Given the description of an element on the screen output the (x, y) to click on. 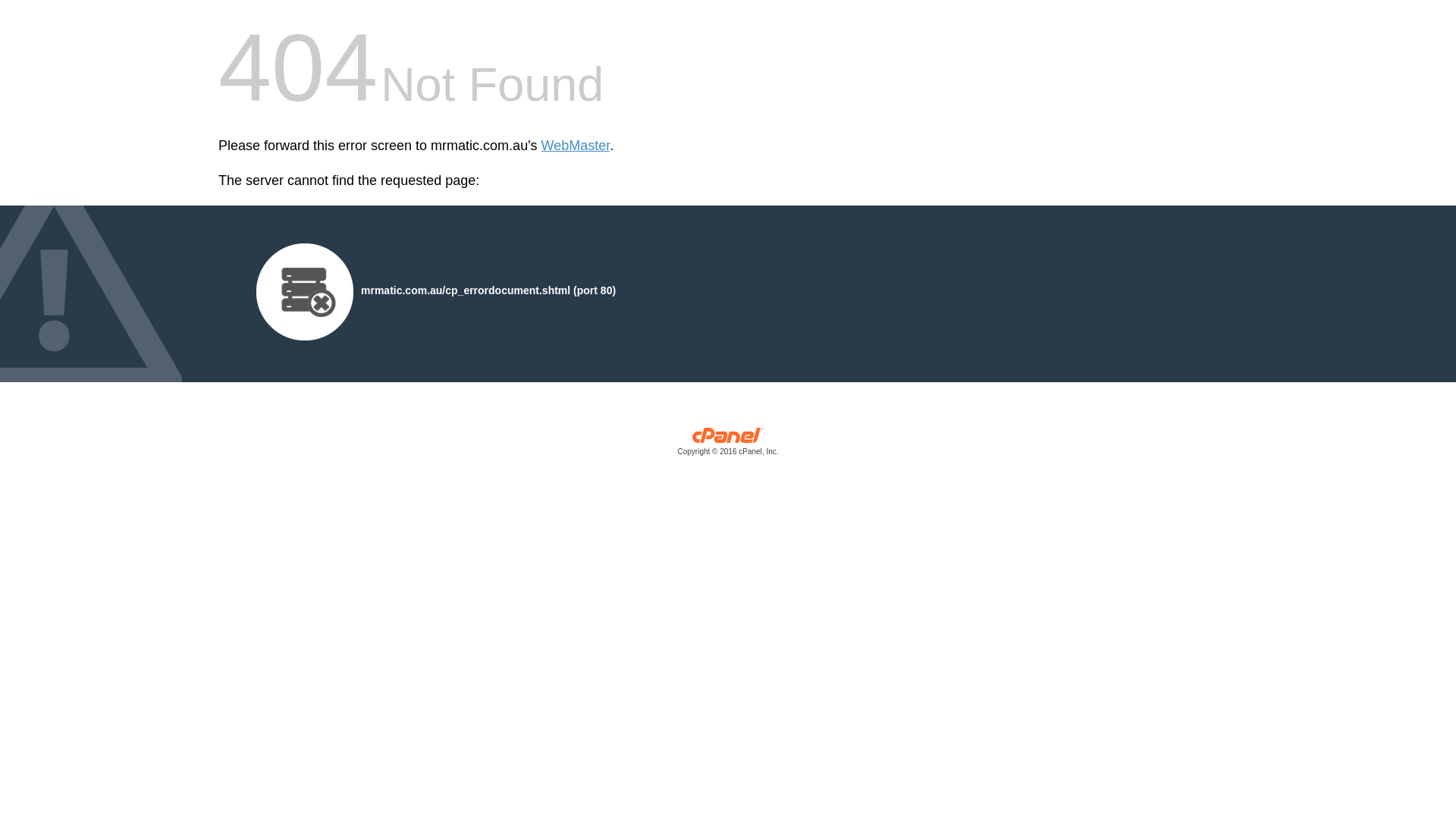
WebMaster Element type: text (575, 145)
